Given the description of an element on the screen output the (x, y) to click on. 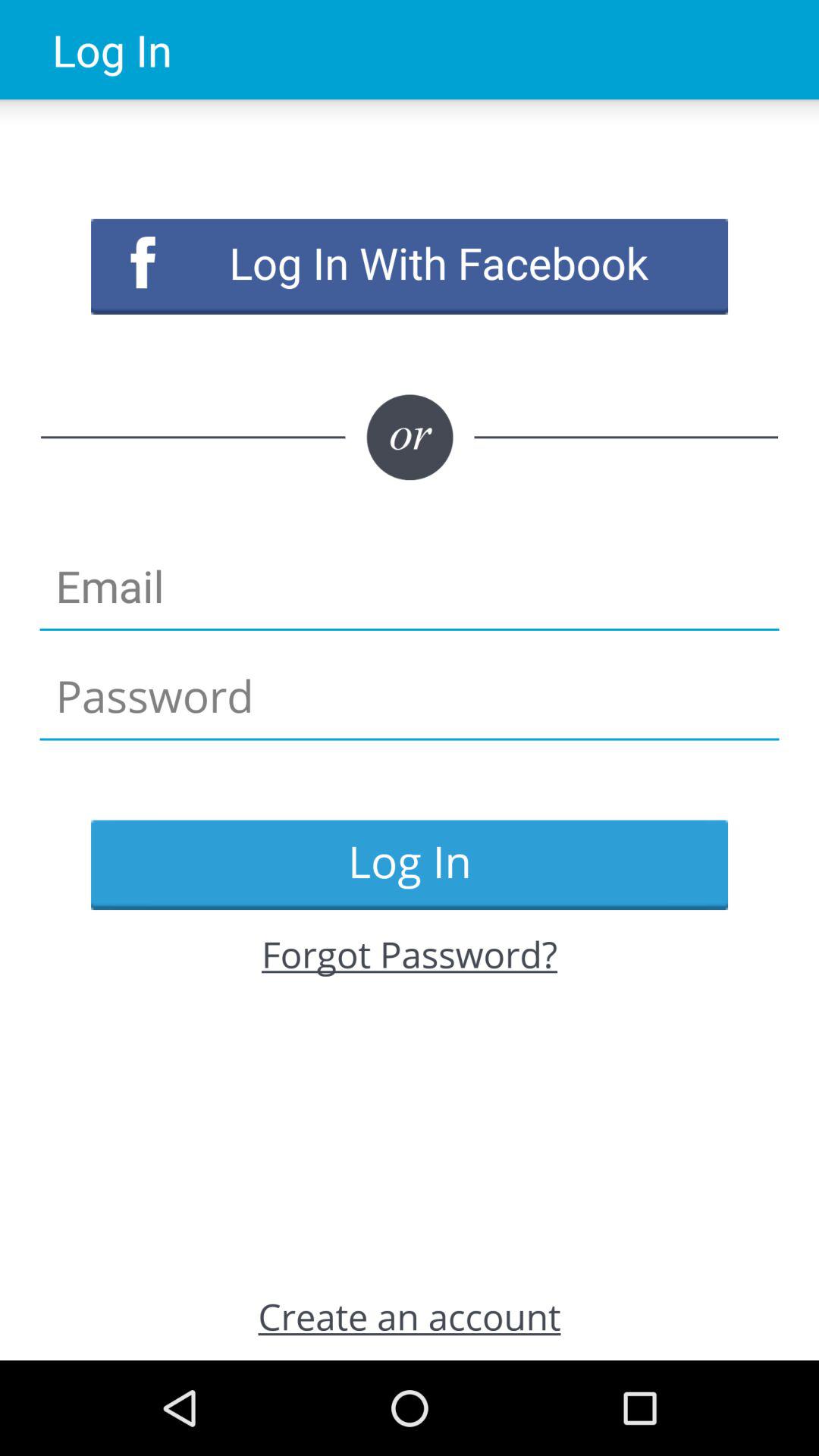
swipe to create an account (409, 1316)
